Given the description of an element on the screen output the (x, y) to click on. 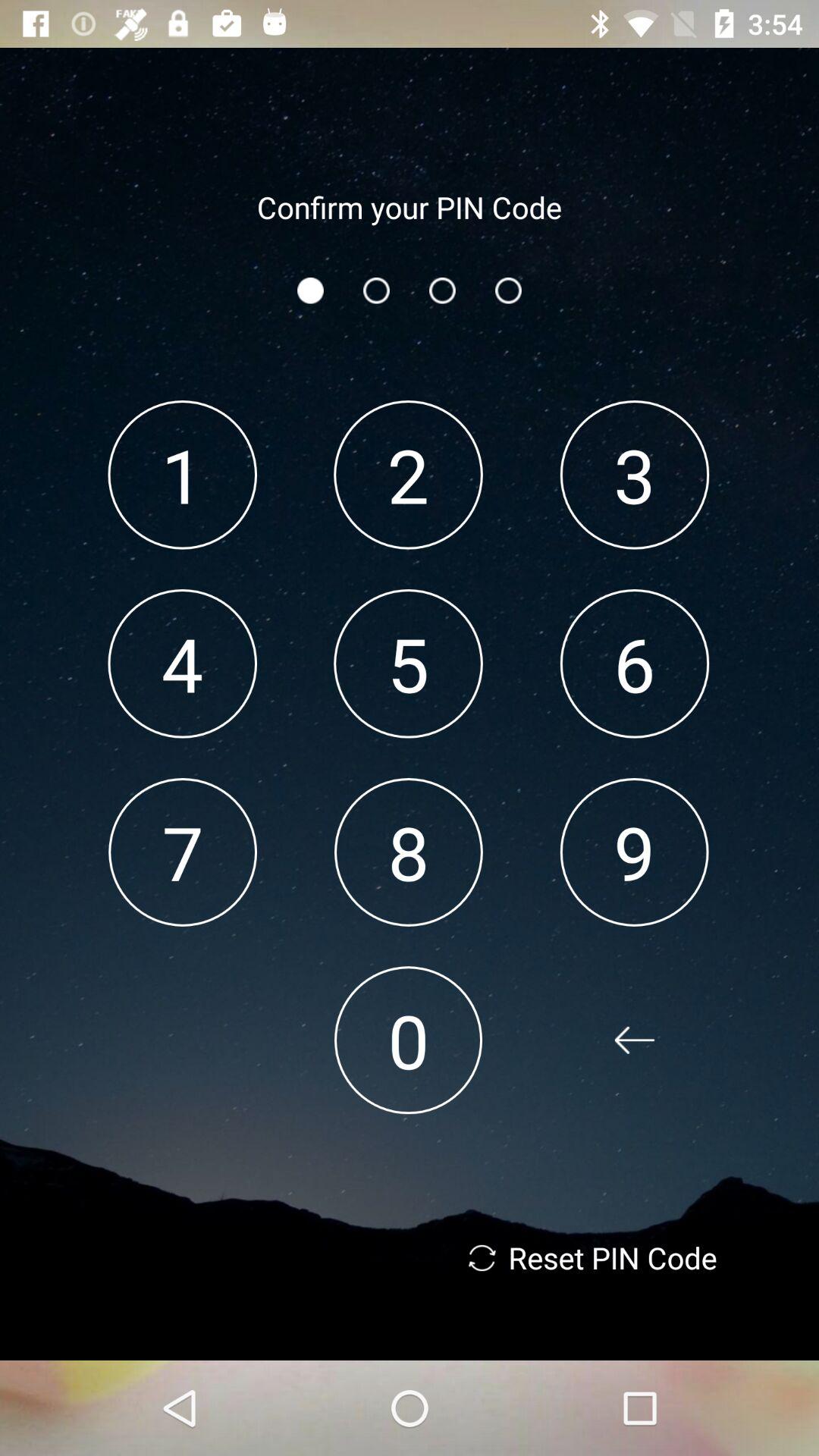
launch the 1 (182, 474)
